Given the description of an element on the screen output the (x, y) to click on. 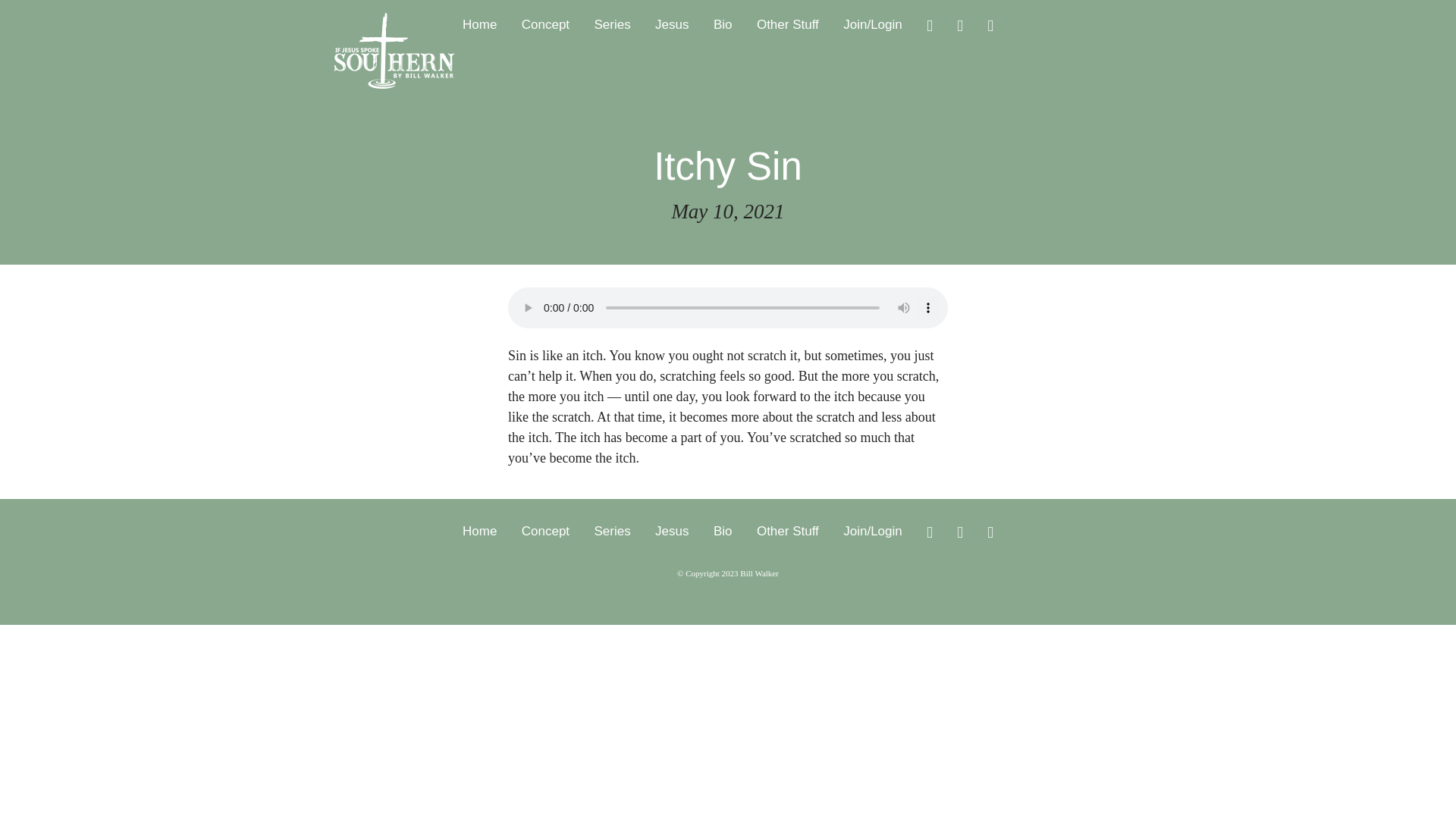
Jesus (671, 531)
Bio (722, 25)
Bio (722, 531)
Other Stuff (787, 531)
Concept (545, 531)
Series (612, 25)
Other Stuff (787, 25)
Jesus (671, 25)
Concept (545, 25)
Home (479, 25)
Series (612, 531)
Home (479, 531)
